Given the description of an element on the screen output the (x, y) to click on. 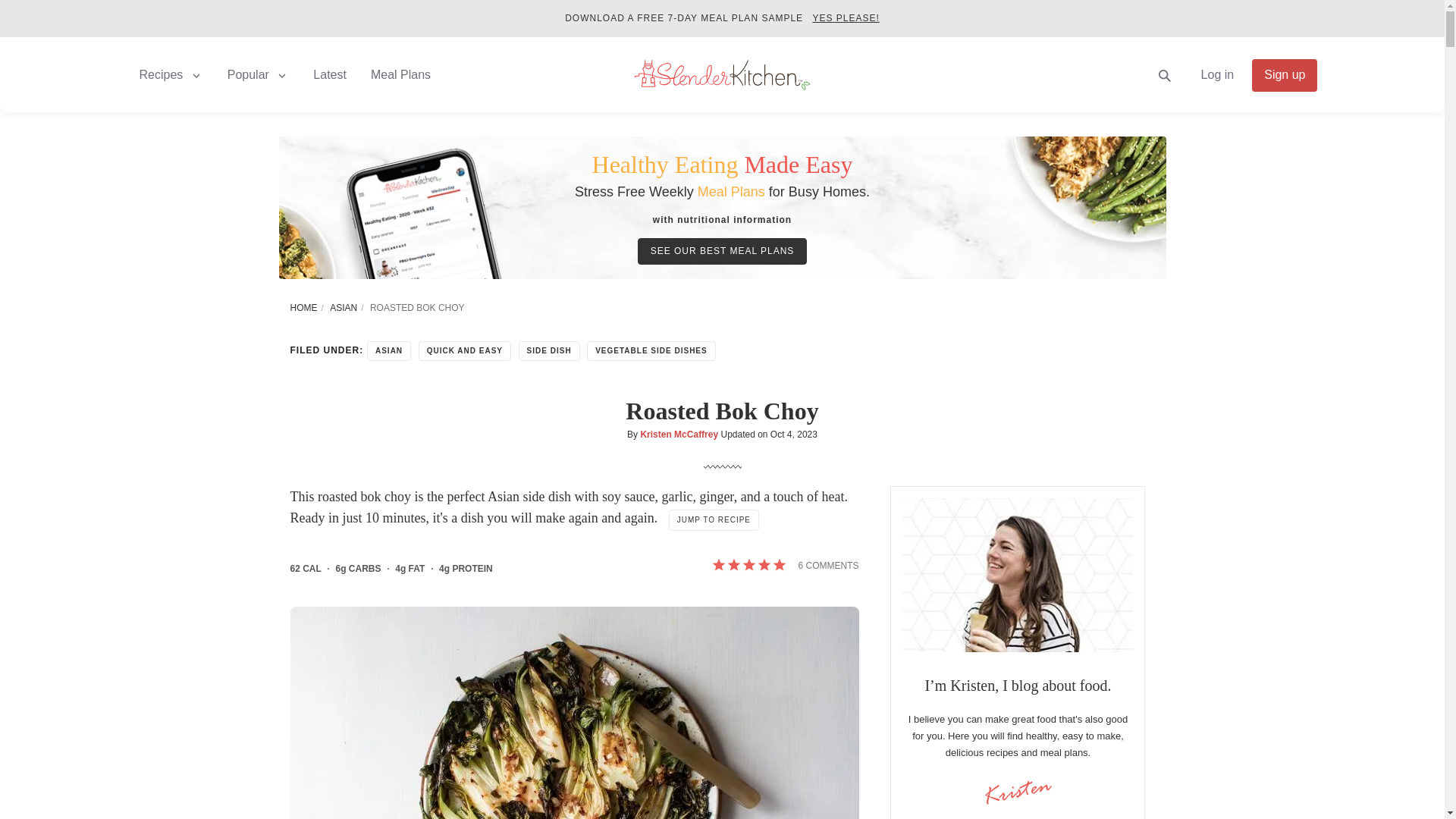
Roasted Bok Choy (574, 712)
Recipes (171, 74)
